Given the description of an element on the screen output the (x, y) to click on. 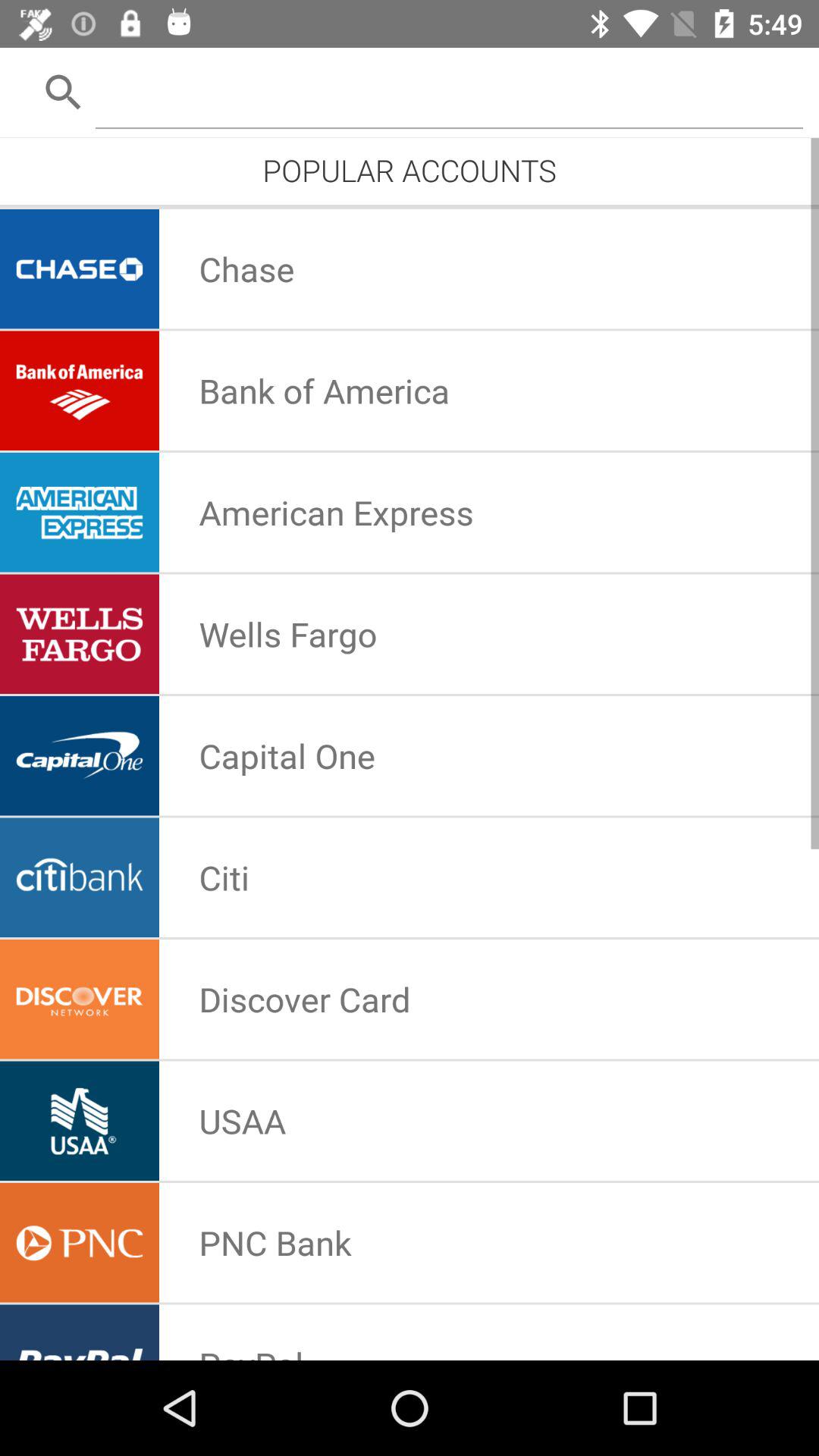
flip to chase item (246, 268)
